Given the description of an element on the screen output the (x, y) to click on. 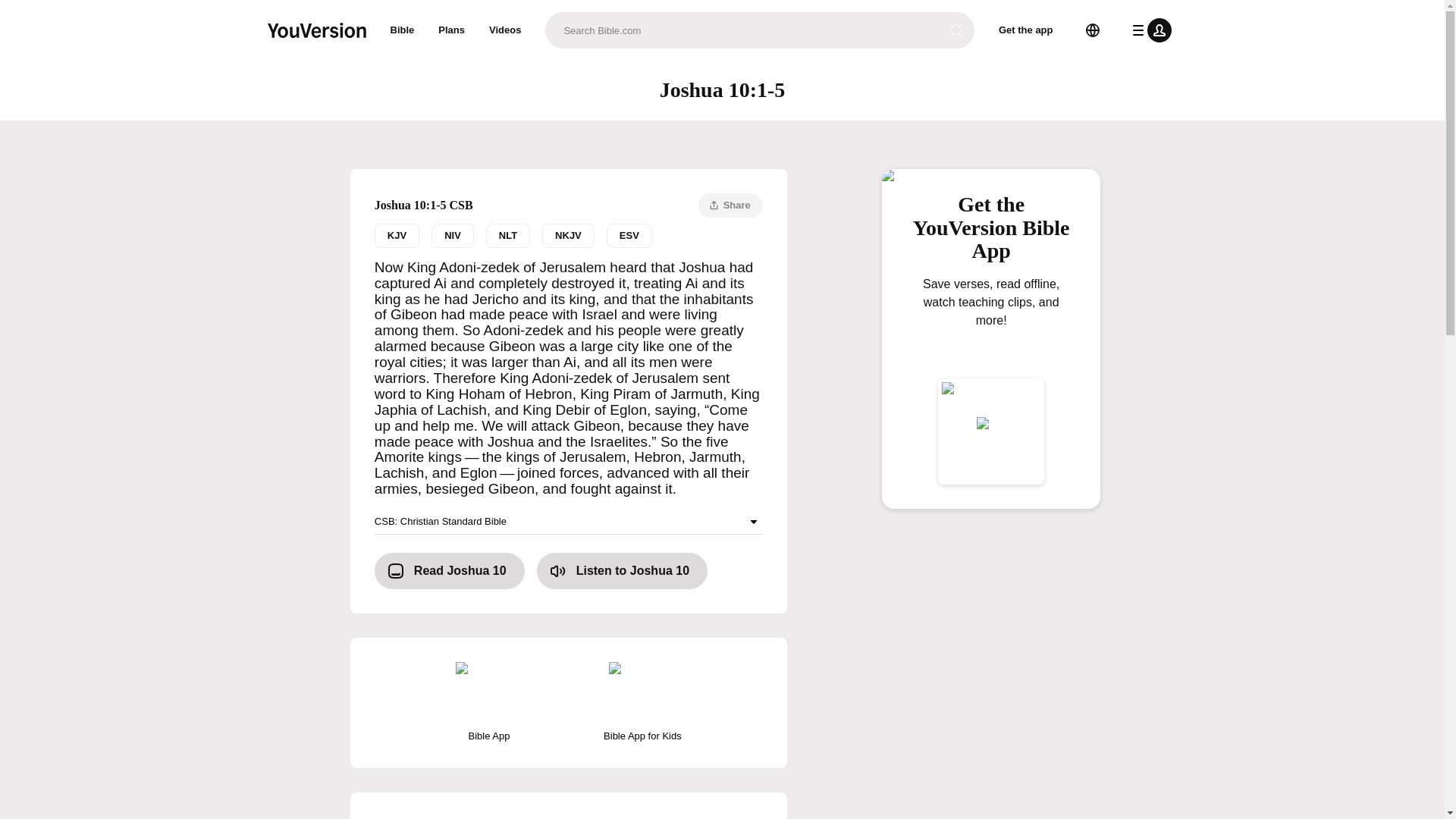
Share (730, 205)
Bible App for Kids (642, 702)
NLT (507, 235)
ESV (629, 235)
Plans (451, 29)
Save verses, read offline, watch teaching clips, and more! (568, 235)
Bible (991, 326)
Read Joshua 10 (401, 29)
Compare All Versions: Joshua 10:1-5 (449, 570)
